Given the description of an element on the screen output the (x, y) to click on. 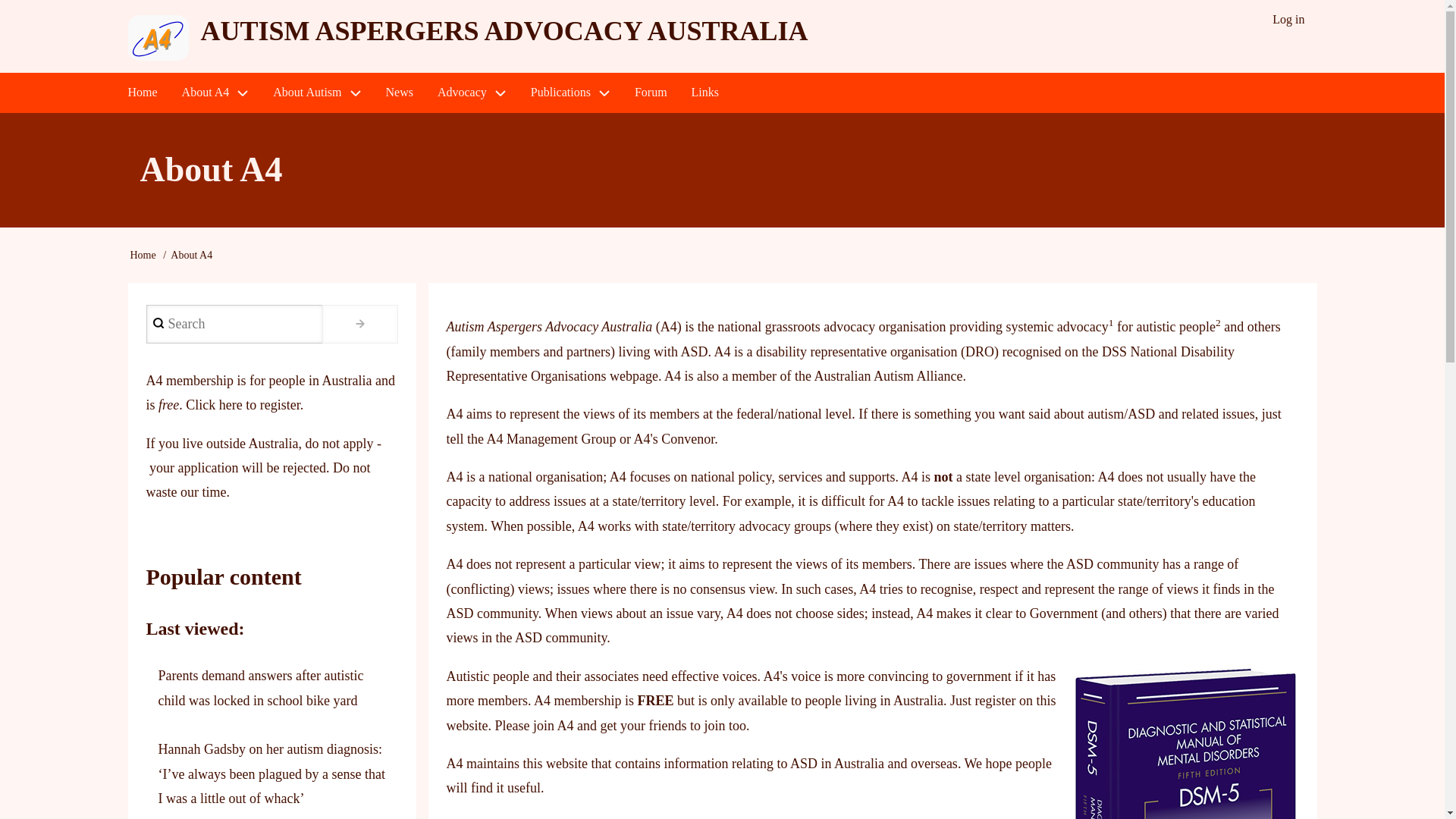
Log in (1288, 20)
About A4 (216, 92)
About Autism (316, 92)
. (359, 323)
. (359, 323)
Publications (570, 92)
Click here to register (242, 404)
A list of news items (399, 92)
Links (704, 92)
Home (141, 92)
